Given the description of an element on the screen output the (x, y) to click on. 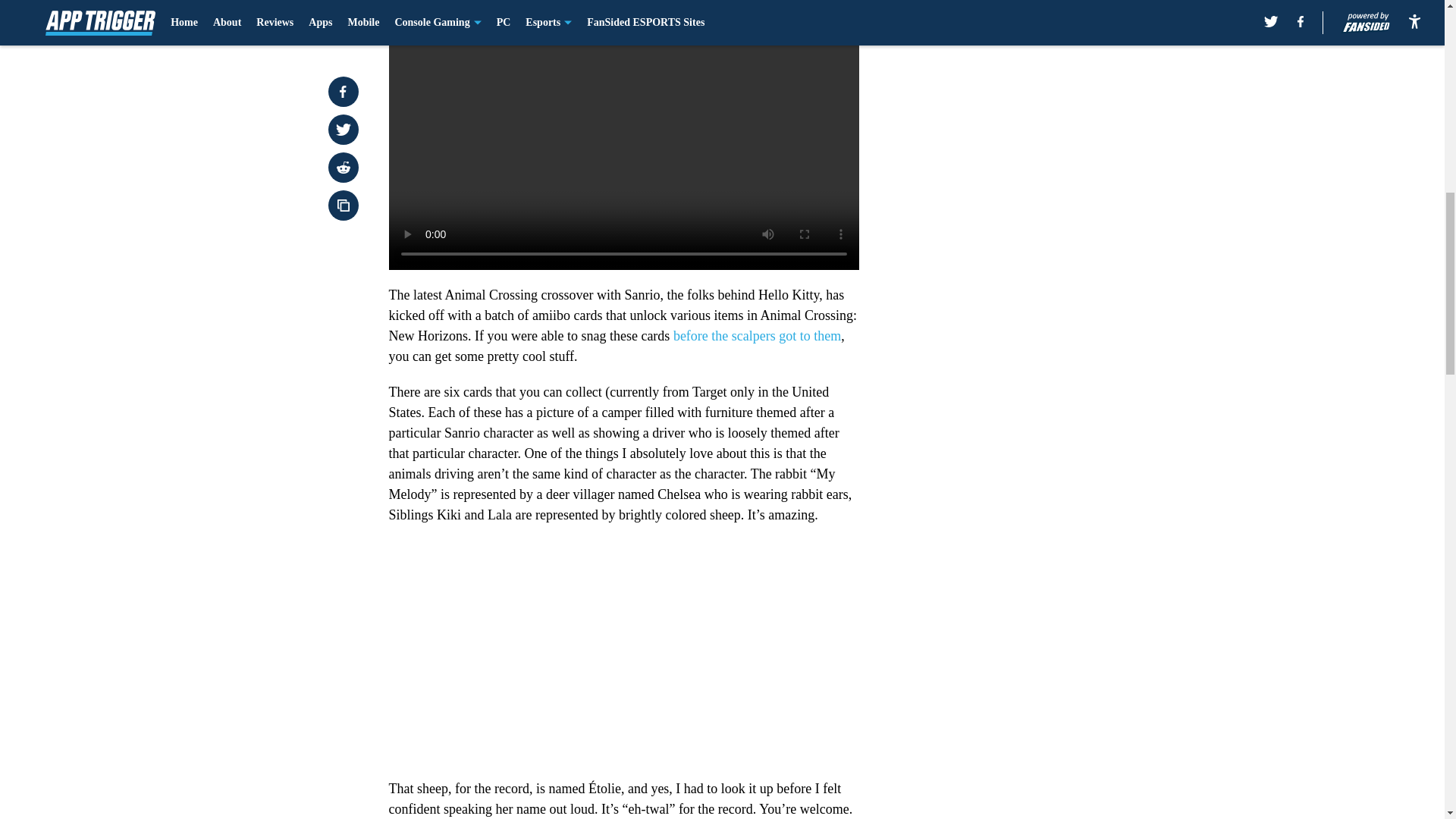
3rd party ad content (1047, 100)
before the scalpers got to them (756, 335)
3rd party ad content (1047, 320)
